Given the description of an element on the screen output the (x, y) to click on. 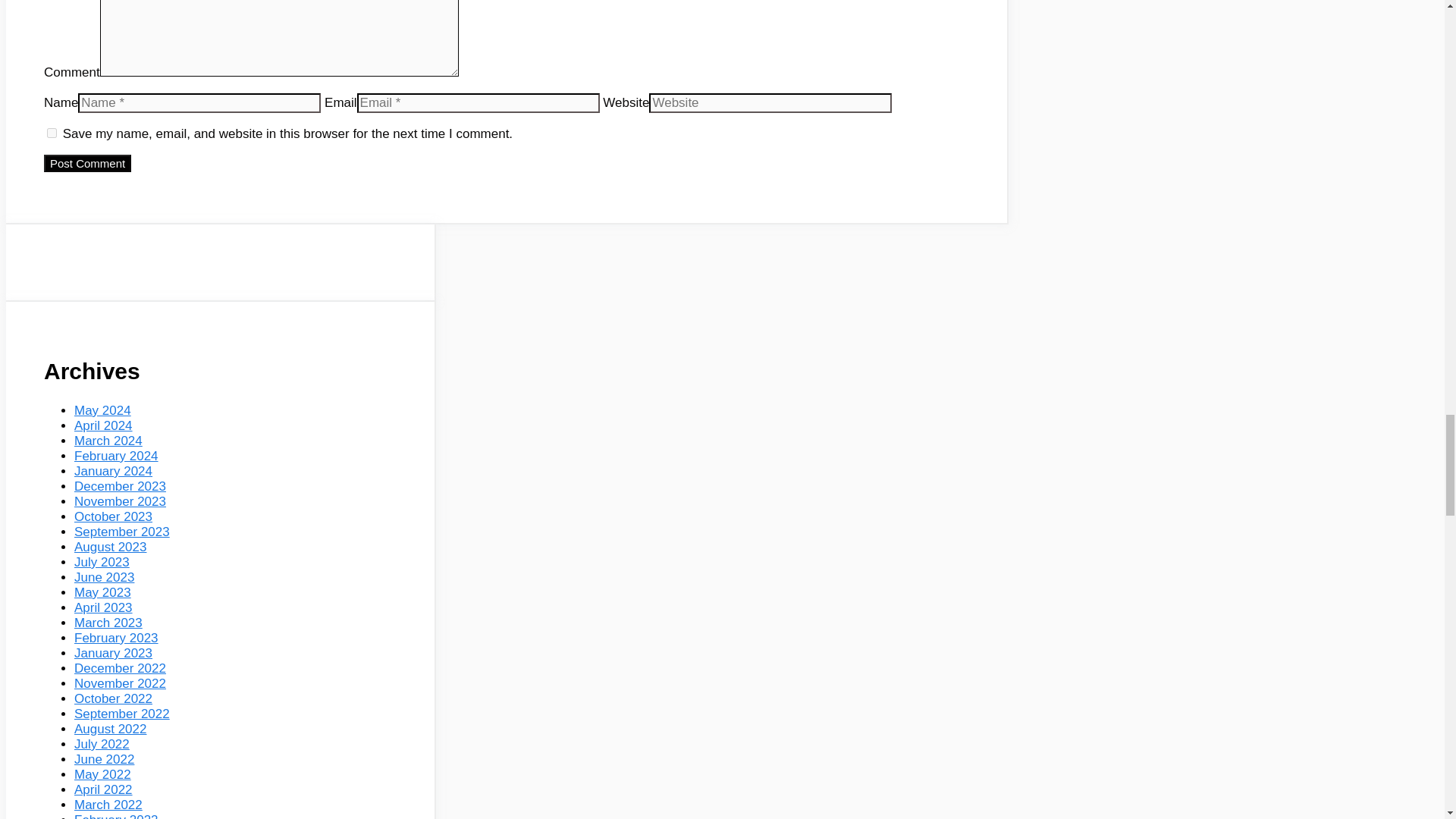
yes (51, 132)
Post Comment (87, 162)
